Given the description of an element on the screen output the (x, y) to click on. 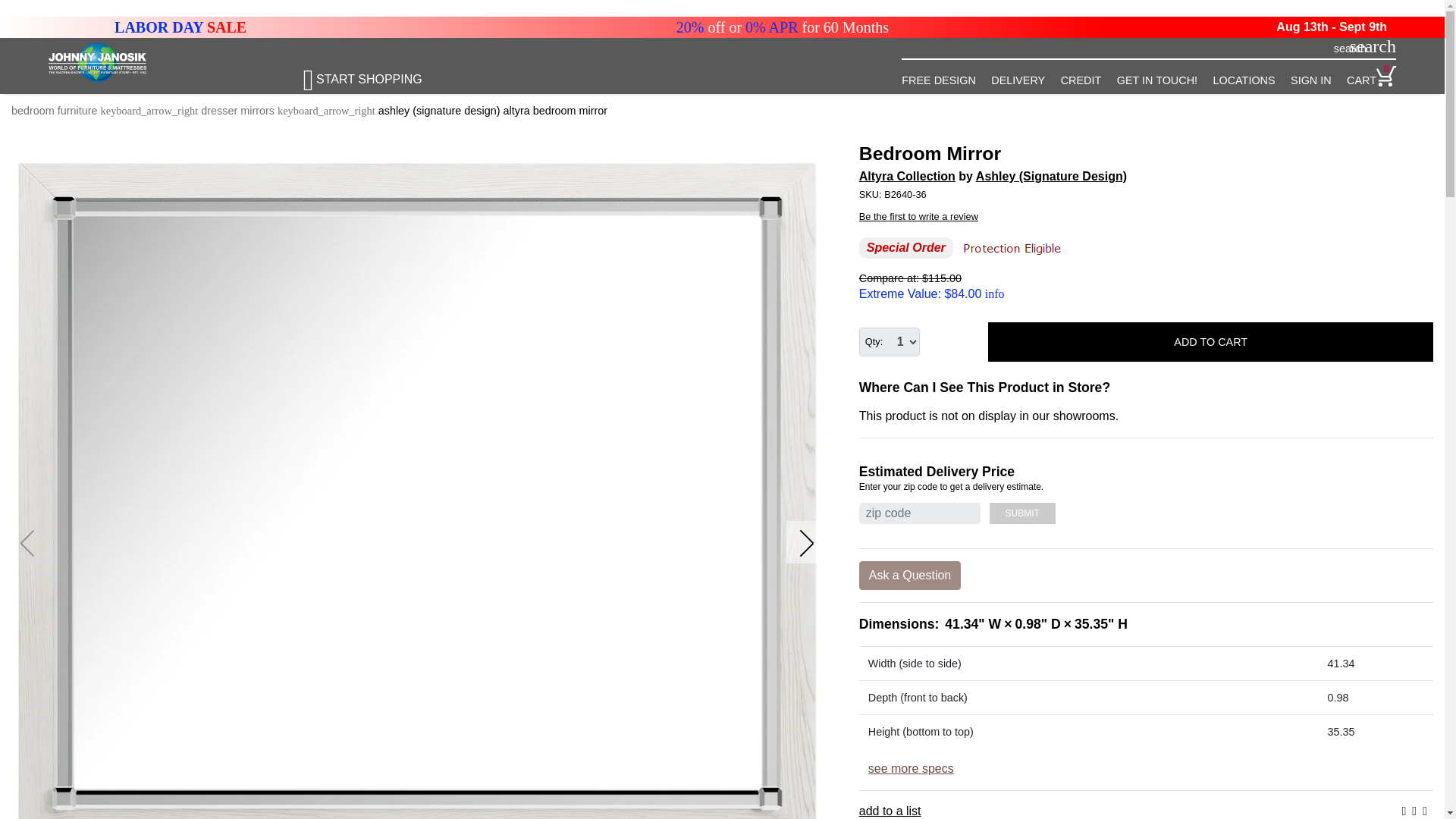
START SHOPPING (375, 72)
B2640-36 (1145, 194)
